Given the description of an element on the screen output the (x, y) to click on. 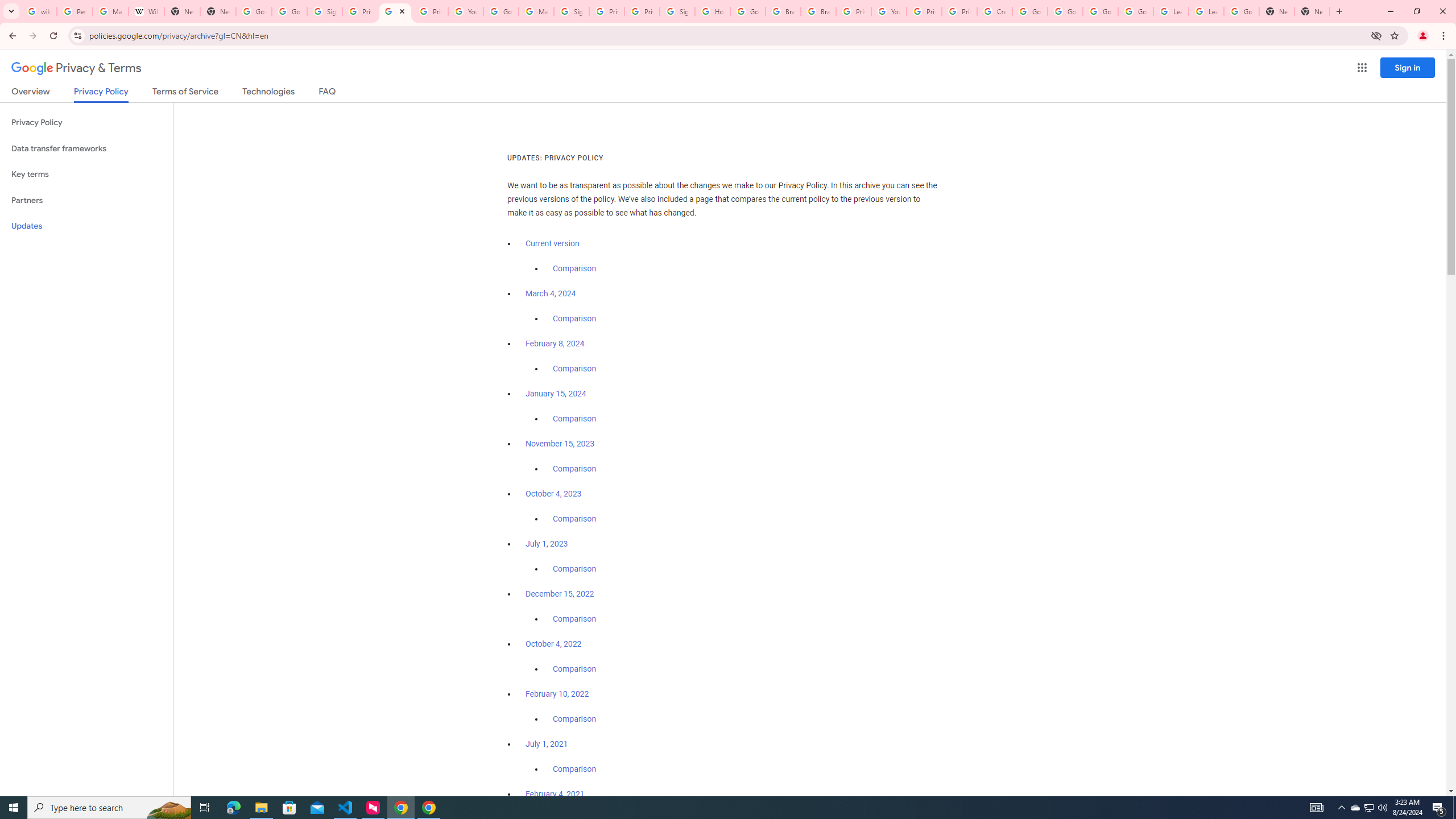
Sign in - Google Accounts (677, 11)
